Given the description of an element on the screen output the (x, y) to click on. 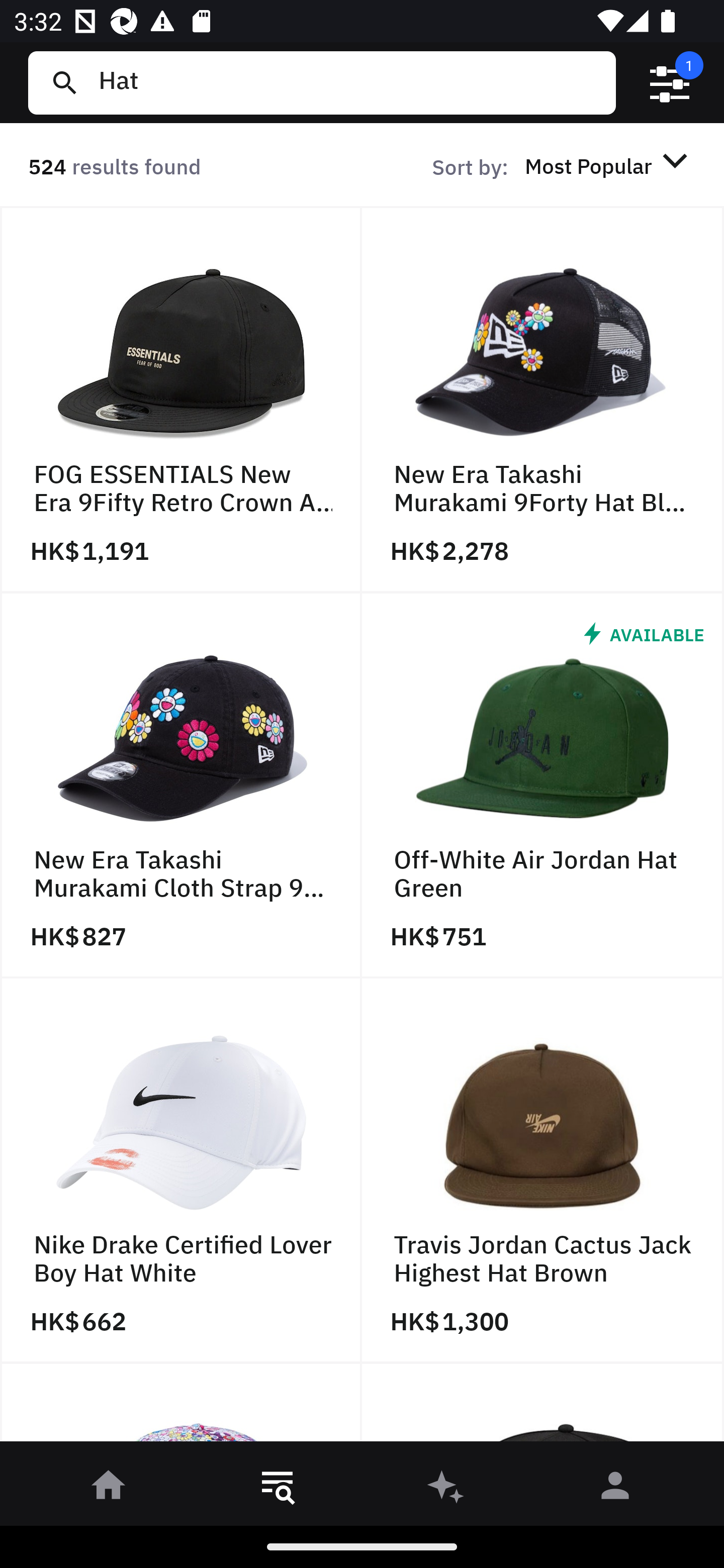
Hat (349, 82)
 (669, 82)
Most Popular  (609, 165)
 AVAILABLE Off-White Air Jordan Hat Green HK$ 751 (543, 785)
Nike Drake Certified Lover Boy Hat White HK$ 662 (181, 1171)
󰋜 (108, 1488)
󱎸 (277, 1488)
󰫢 (446, 1488)
󰀄 (615, 1488)
